Given the description of an element on the screen output the (x, y) to click on. 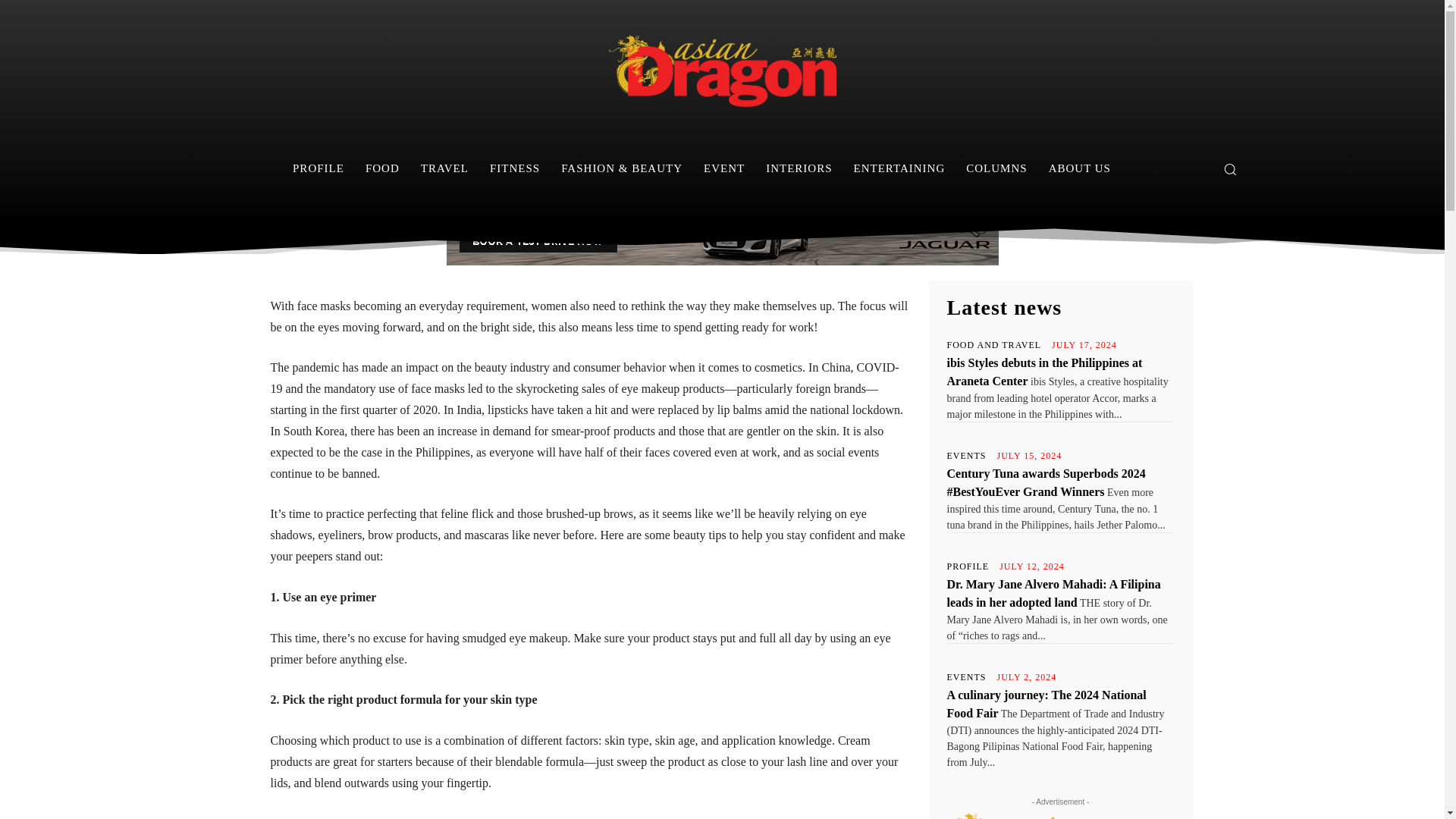
PROFILE (318, 167)
